Given the description of an element on the screen output the (x, y) to click on. 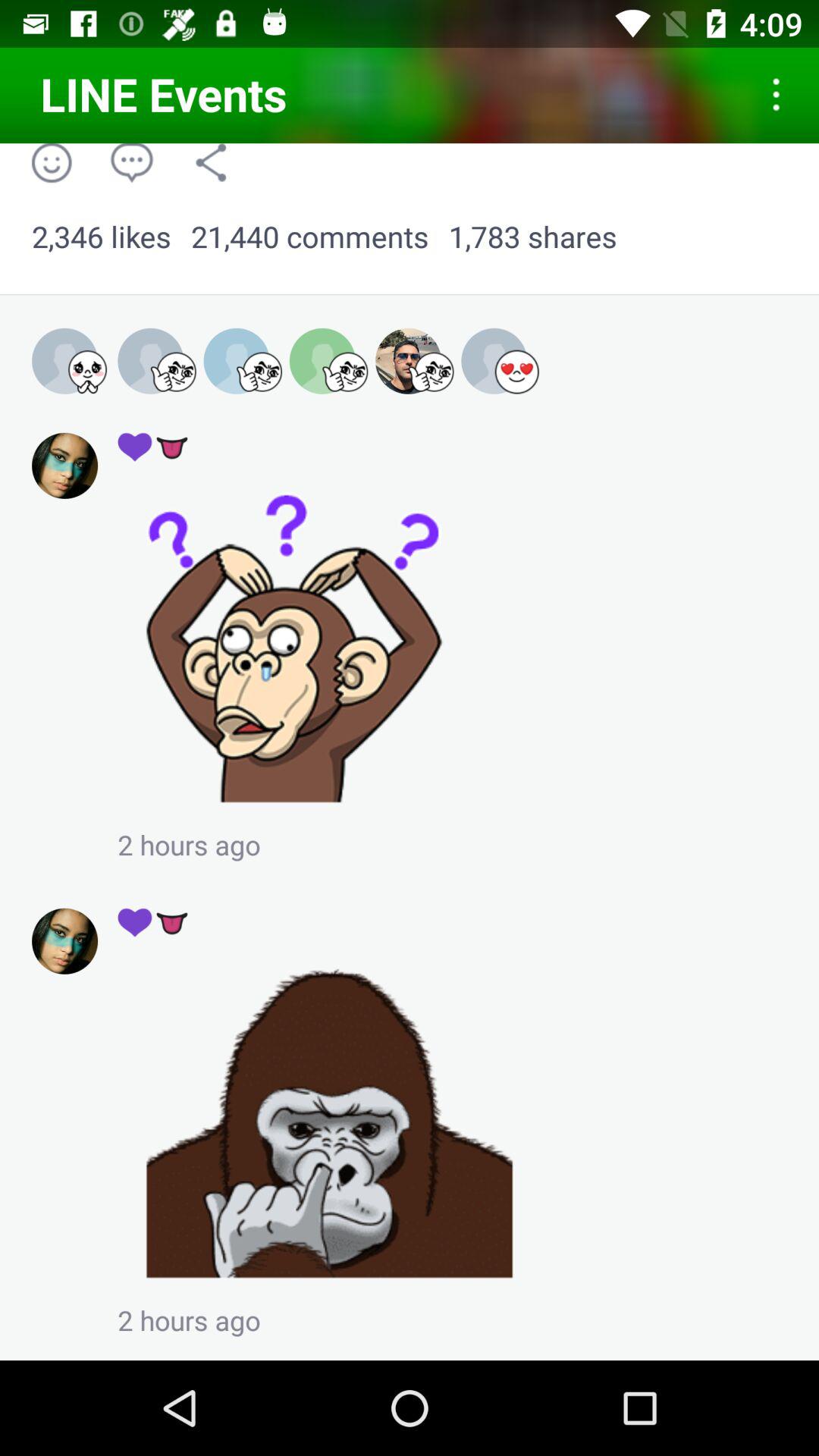
scroll to the 21,440 comments (309, 237)
